Given the description of an element on the screen output the (x, y) to click on. 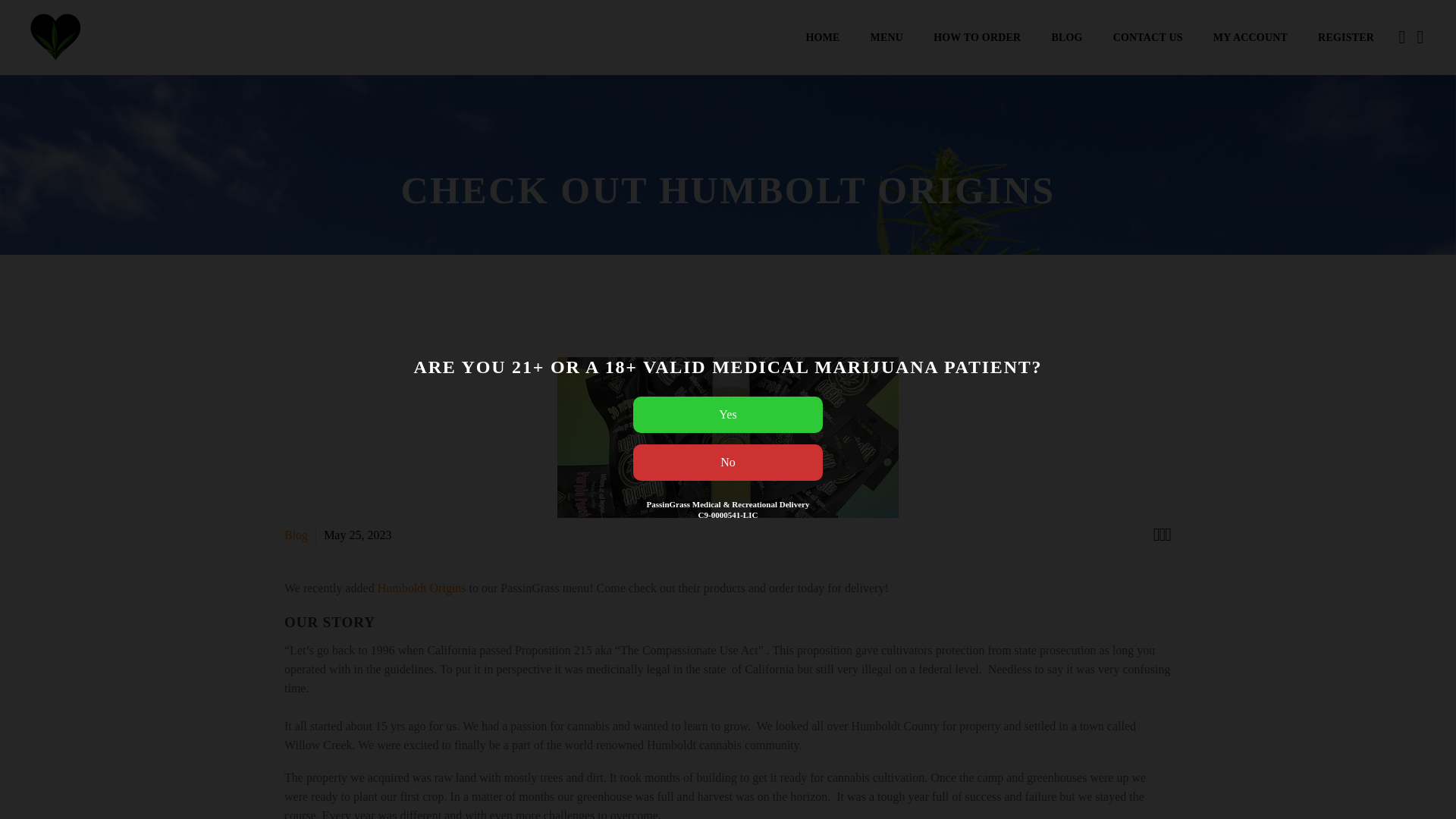
REGISTER (1346, 37)
HOW TO ORDER (976, 37)
Yes (727, 414)
No (727, 462)
MY ACCOUNT (1250, 37)
View all posts in Blog (295, 534)
Humboldt Origins (421, 587)
CONTACT US (1147, 37)
Blog (295, 534)
